Given the description of an element on the screen output the (x, y) to click on. 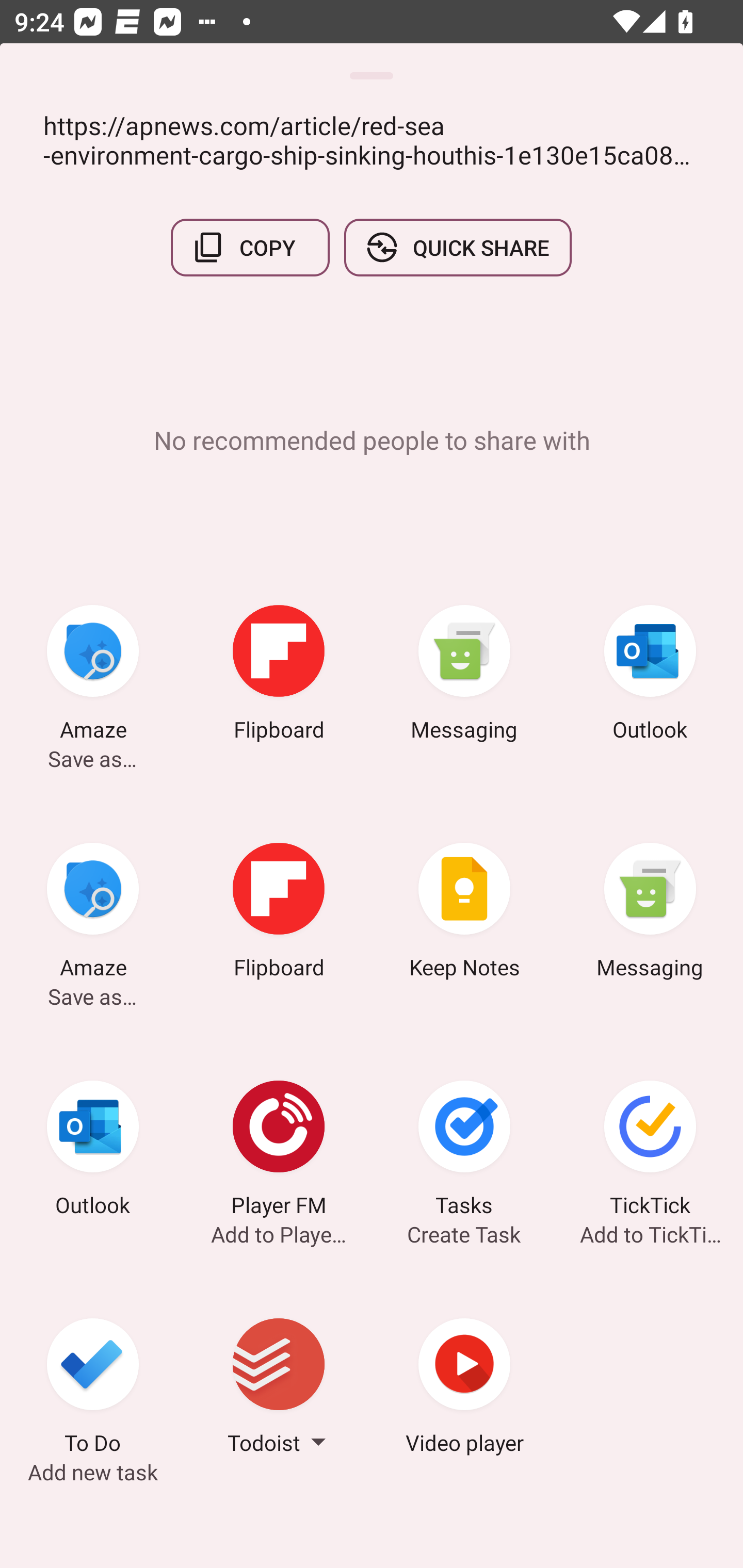
COPY (249, 247)
QUICK SHARE (457, 247)
Amaze Save as… (92, 675)
Flipboard (278, 675)
Messaging (464, 675)
Outlook (650, 675)
Amaze Save as… (92, 913)
Flipboard (278, 913)
Keep Notes (464, 913)
Messaging (650, 913)
Outlook (92, 1151)
Player FM Add to Player FM (278, 1151)
Tasks Create Task (464, 1151)
TickTick Add to TickTick (650, 1151)
To Do Add new task (92, 1389)
Todoist (278, 1389)
Video player (464, 1389)
